Given the description of an element on the screen output the (x, y) to click on. 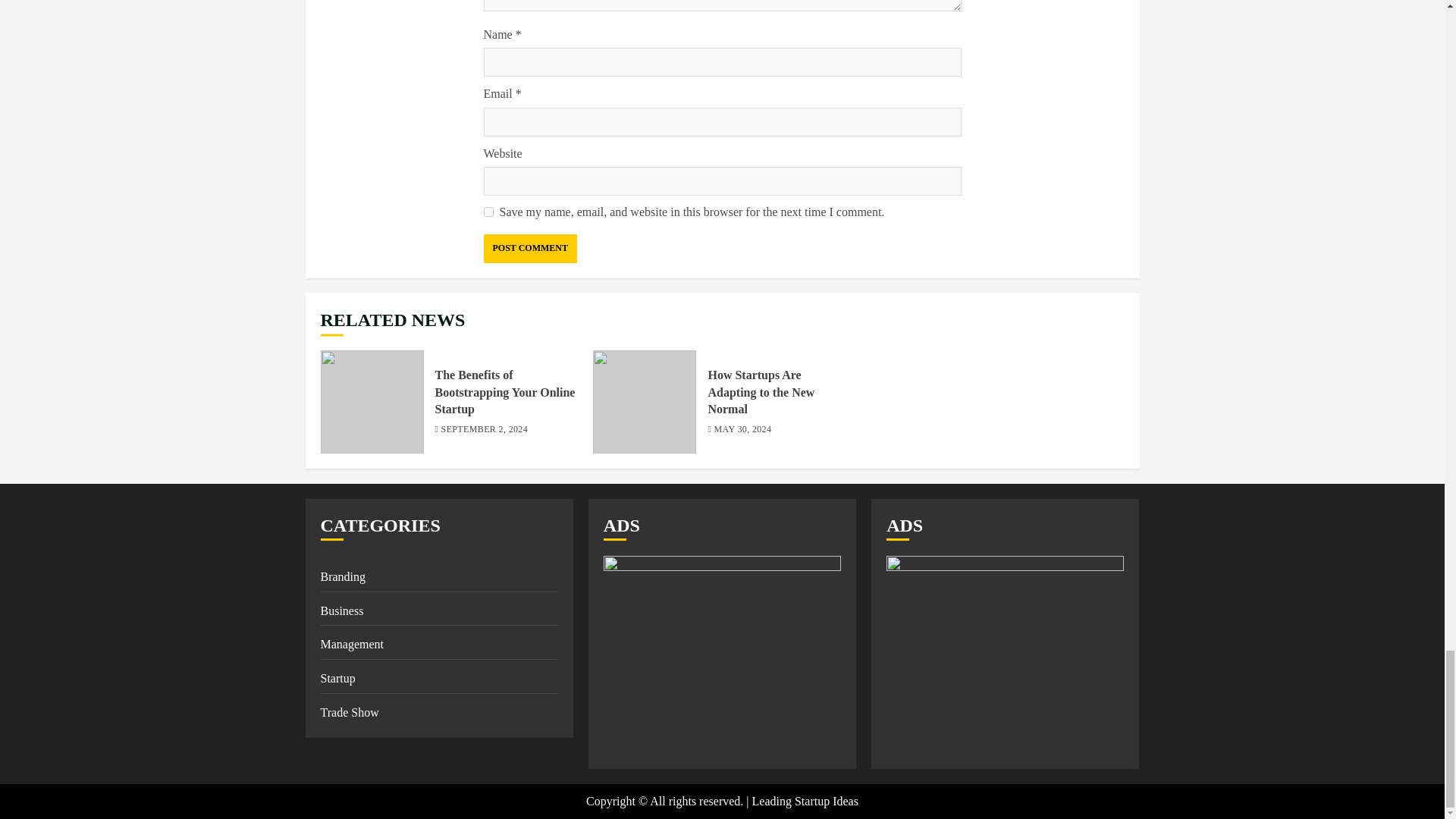
How Startups Are Adapting to the New Normal (760, 392)
Startup (337, 679)
How Startups Are Adapting to the New Normal (643, 401)
Trade Show (349, 712)
Post Comment (529, 248)
Branding (342, 577)
The Benefits of Bootstrapping Your Online Startup (371, 401)
yes (488, 212)
The Benefits of Bootstrapping Your Online Startup (505, 392)
Management (352, 644)
